Given the description of an element on the screen output the (x, y) to click on. 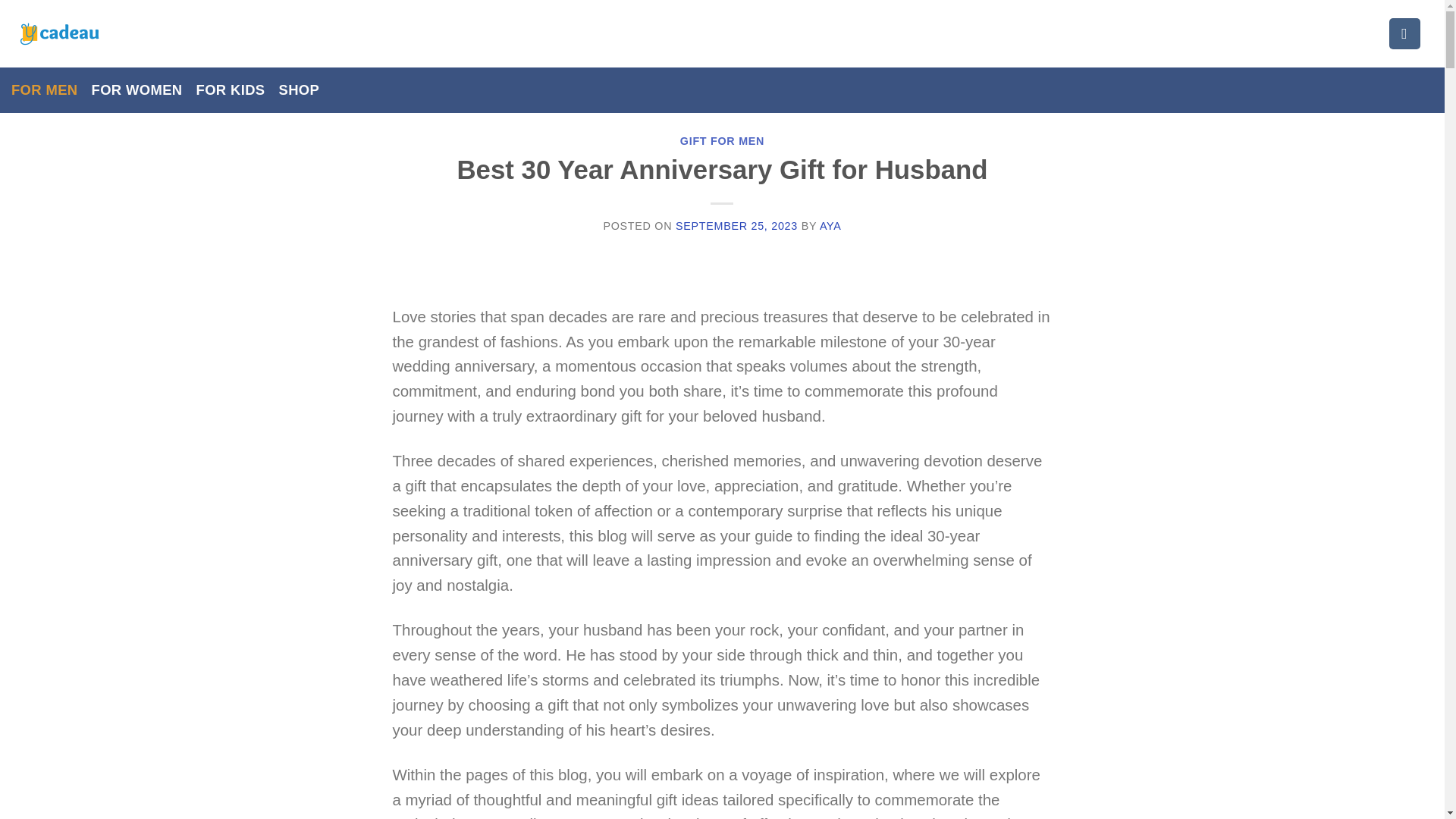
AYA (830, 225)
FOR KIDS (230, 90)
SHOP (298, 90)
GIFT FOR MEN (721, 141)
FOR WOMEN (137, 90)
Ycadeau - Your World for Gifts , for Anyone for Any Occasion (58, 33)
FOR MEN (44, 90)
SEPTEMBER 25, 2023 (736, 225)
